Given the description of an element on the screen output the (x, y) to click on. 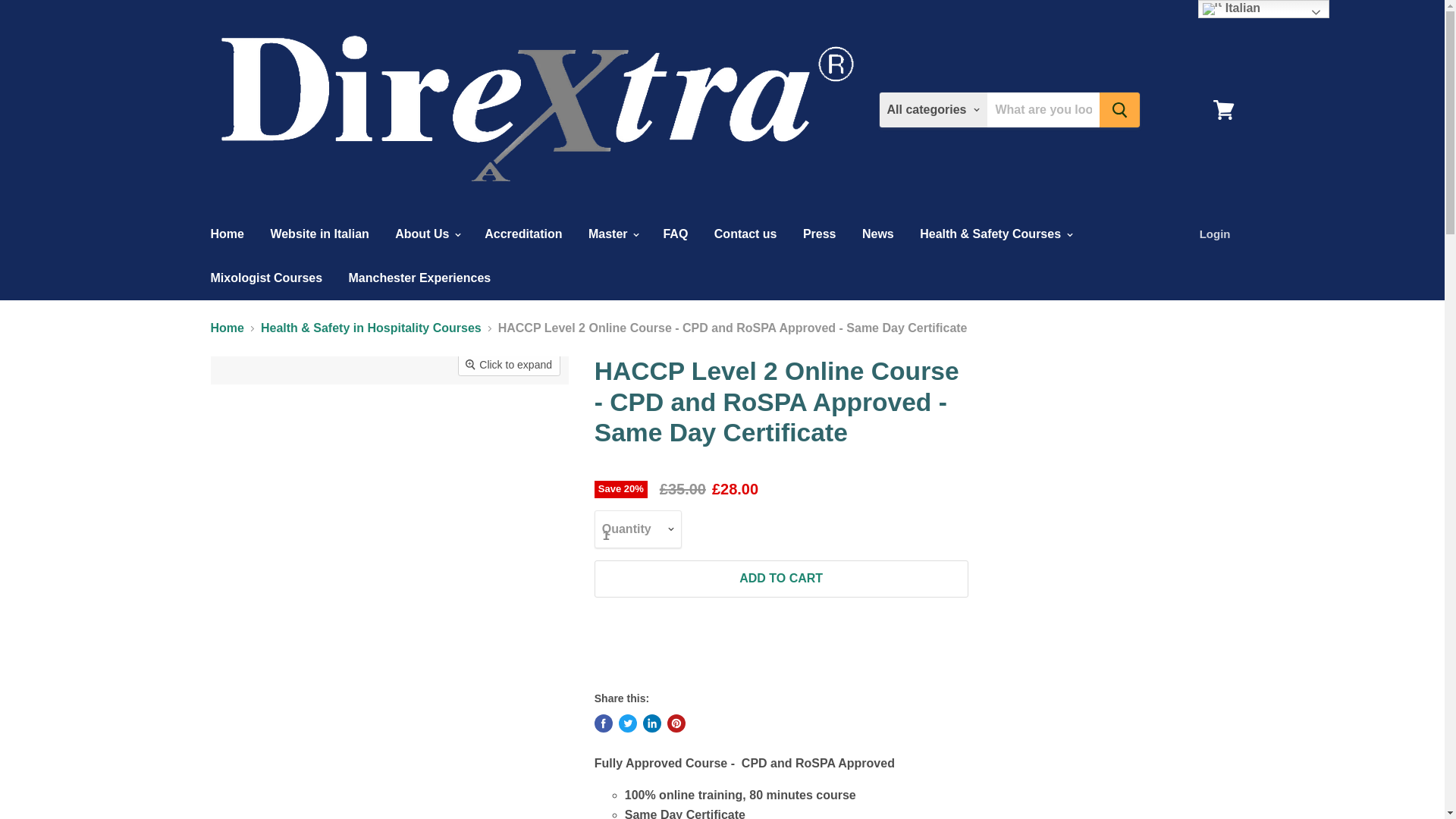
Master (611, 234)
Contact us (746, 234)
FAQ (674, 234)
About Us (427, 234)
Home (226, 234)
Press (819, 234)
News (877, 234)
Website in Italian (319, 234)
Accreditation (523, 234)
View cart (1223, 109)
